Given the description of an element on the screen output the (x, y) to click on. 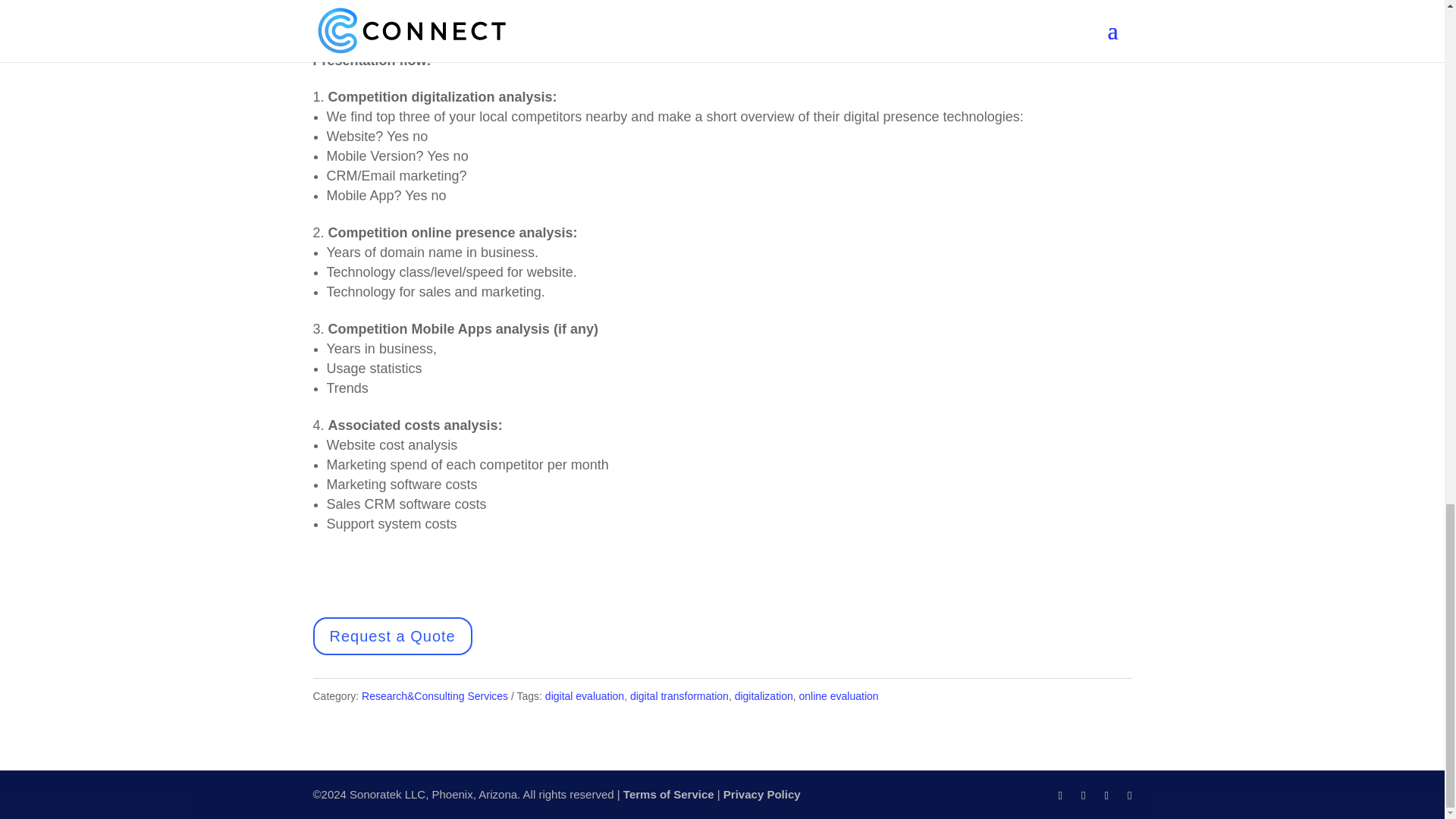
digital evaluation (584, 695)
Request a Quote (392, 636)
Terms of Service (668, 793)
digitalization (764, 695)
digital transformation (679, 695)
Privacy Policy (761, 793)
online evaluation (839, 695)
